Given the description of an element on the screen output the (x, y) to click on. 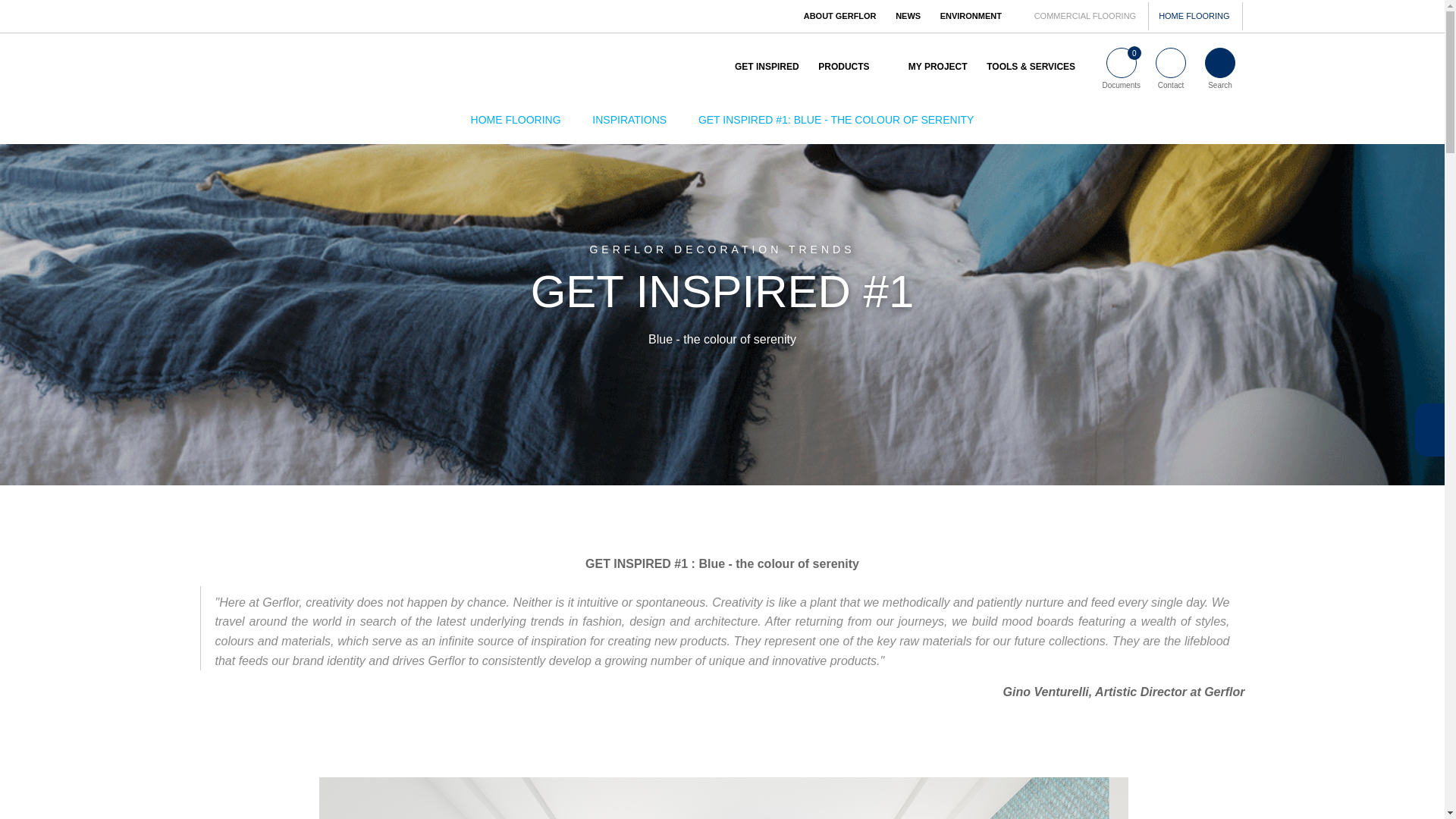
Inspirations (629, 119)
DEEPBLUE2 (723, 798)
HOME Flooring (515, 119)
